Given the description of an element on the screen output the (x, y) to click on. 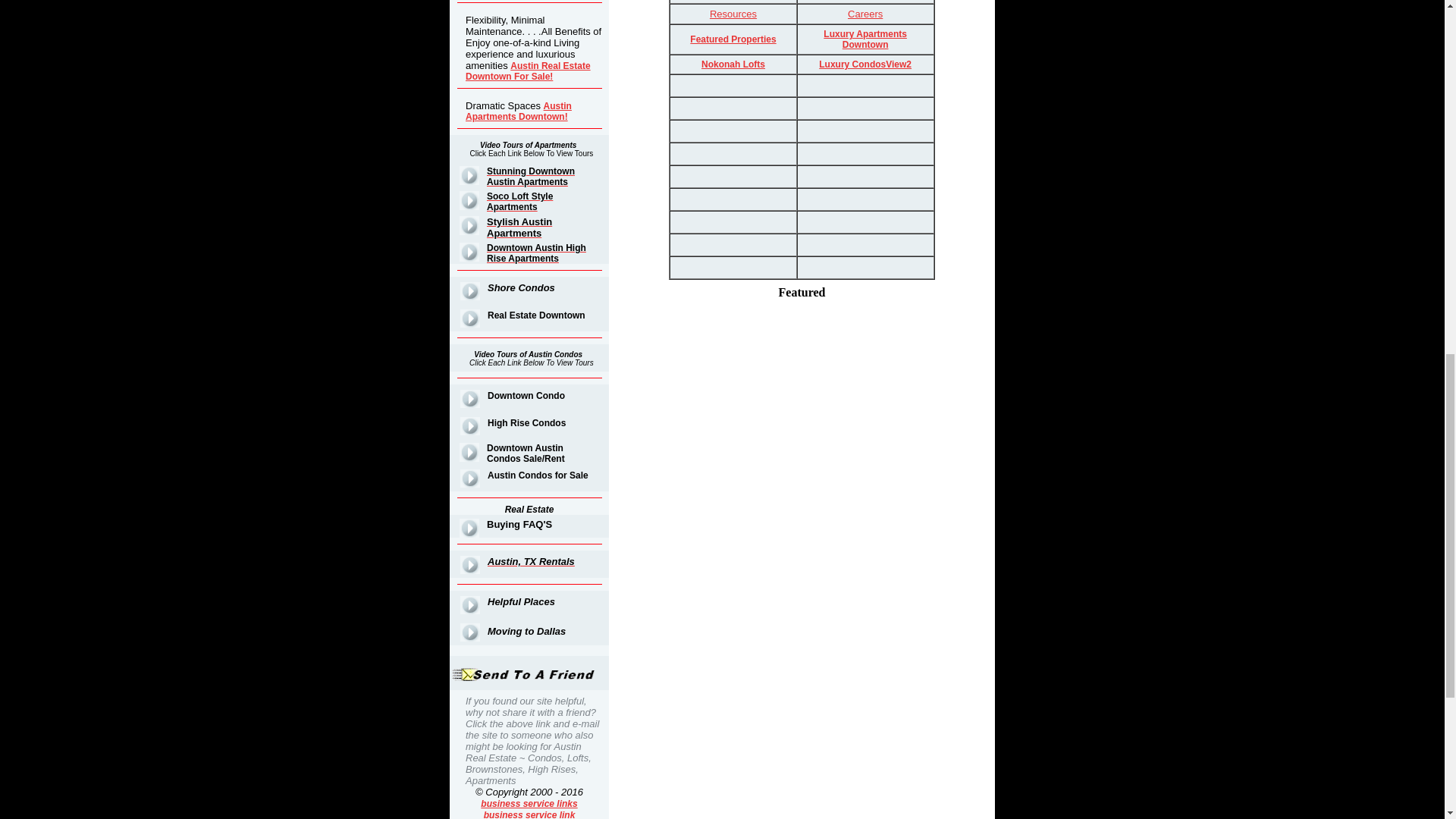
Stunning Downtown Austin Apartments (530, 176)
Austin Apartments Downtown! (518, 111)
Austin Real Estate Downtown For Sale! (528, 70)
